Given the description of an element on the screen output the (x, y) to click on. 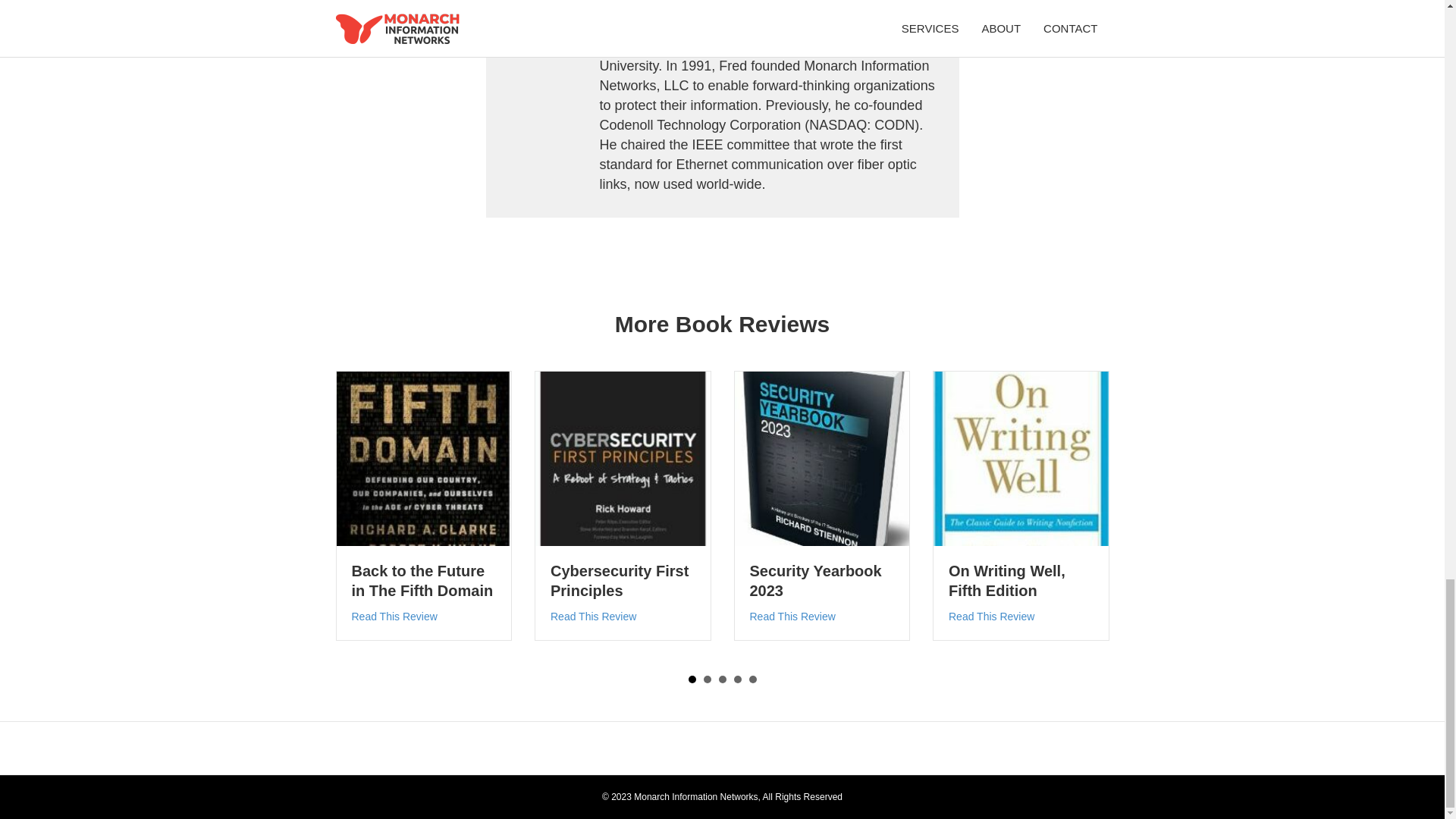
Security Yearbook 2023 (814, 580)
On Writing Well, Fifth Edition (1007, 580)
On Writing Well, Fifth Edition (1007, 580)
1 (691, 679)
Back to the Future in The Fifth Domain (422, 580)
Cybersecurity First Principles (619, 580)
Read This Review (791, 616)
zinsser (1020, 459)
Security Yearbook 2023 (791, 616)
Back to the Future in The Fifth Domain (422, 580)
Read This Review (593, 616)
Read This Review (991, 616)
Read This Review (395, 616)
Cybersecurity First Principles (619, 580)
cfp (622, 459)
